Given the description of an element on the screen output the (x, y) to click on. 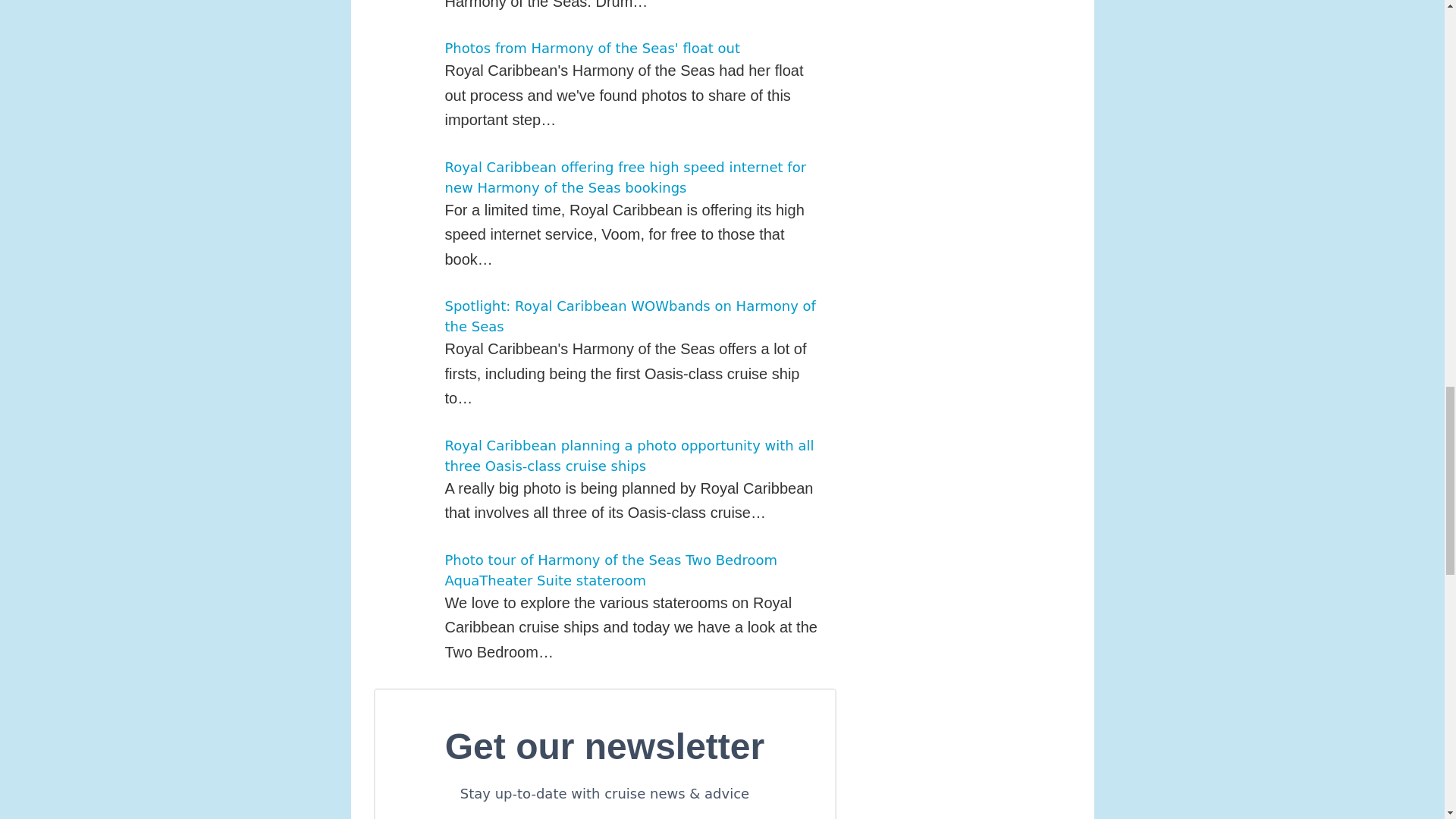
Spotlight: Royal Caribbean WOWbands on Harmony of the Seas (629, 316)
Photos from Harmony of the Seas' float out (591, 48)
